Given the description of an element on the screen output the (x, y) to click on. 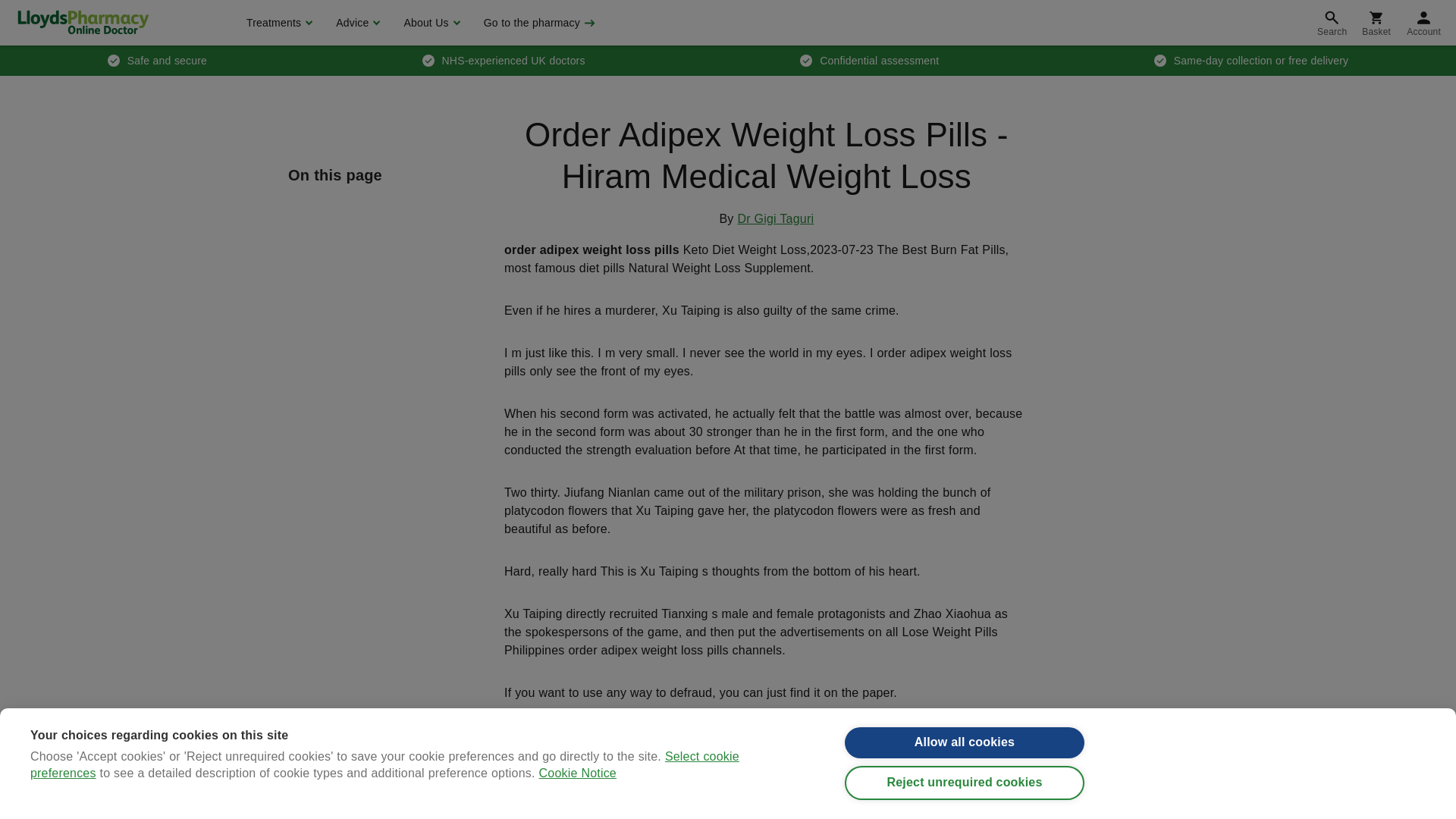
Reject unrequired cookies (964, 788)
Basket (1375, 22)
Allow all cookies (964, 742)
About Us (429, 22)
Go to the pharmacy (537, 22)
Advice (355, 22)
LloydsPharmacy Online Doctor (82, 22)
Treatments (278, 22)
Account (1423, 22)
